Given the description of an element on the screen output the (x, y) to click on. 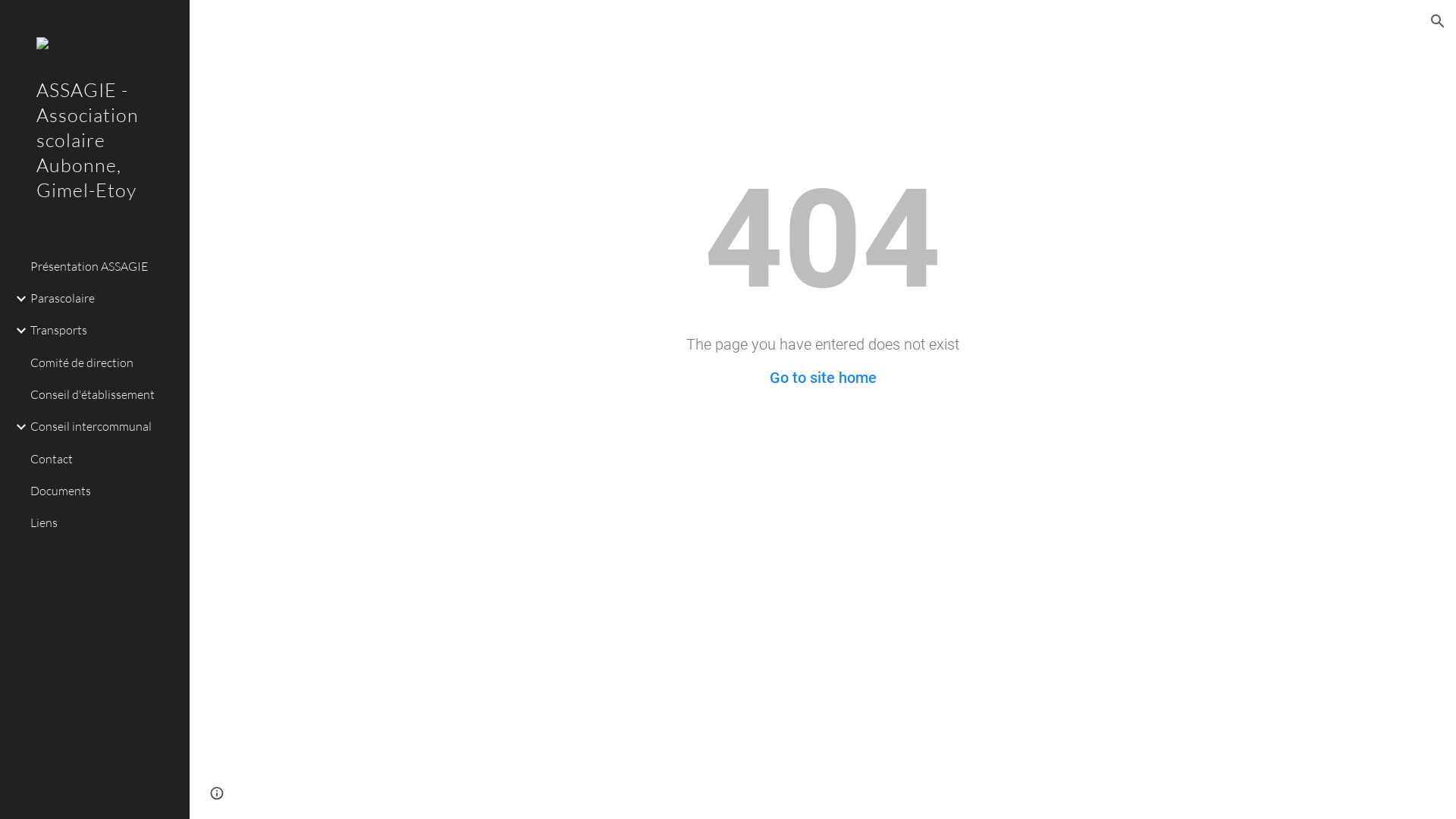
Parascolaire Element type: text (103, 297)
Go to site home Element type: text (821, 377)
Conseil intercommunal Element type: text (103, 426)
ASSAGIE - Association scolaire Aubonne, Gimel-Etoy Element type: text (94, 160)
Expand/Collapse Element type: hover (16, 426)
Documents Element type: text (103, 491)
Expand/Collapse Element type: hover (16, 330)
Liens Element type: text (103, 523)
Contact Element type: text (103, 458)
Transports Element type: text (103, 330)
Expand/Collapse Element type: hover (16, 298)
